Given the description of an element on the screen output the (x, y) to click on. 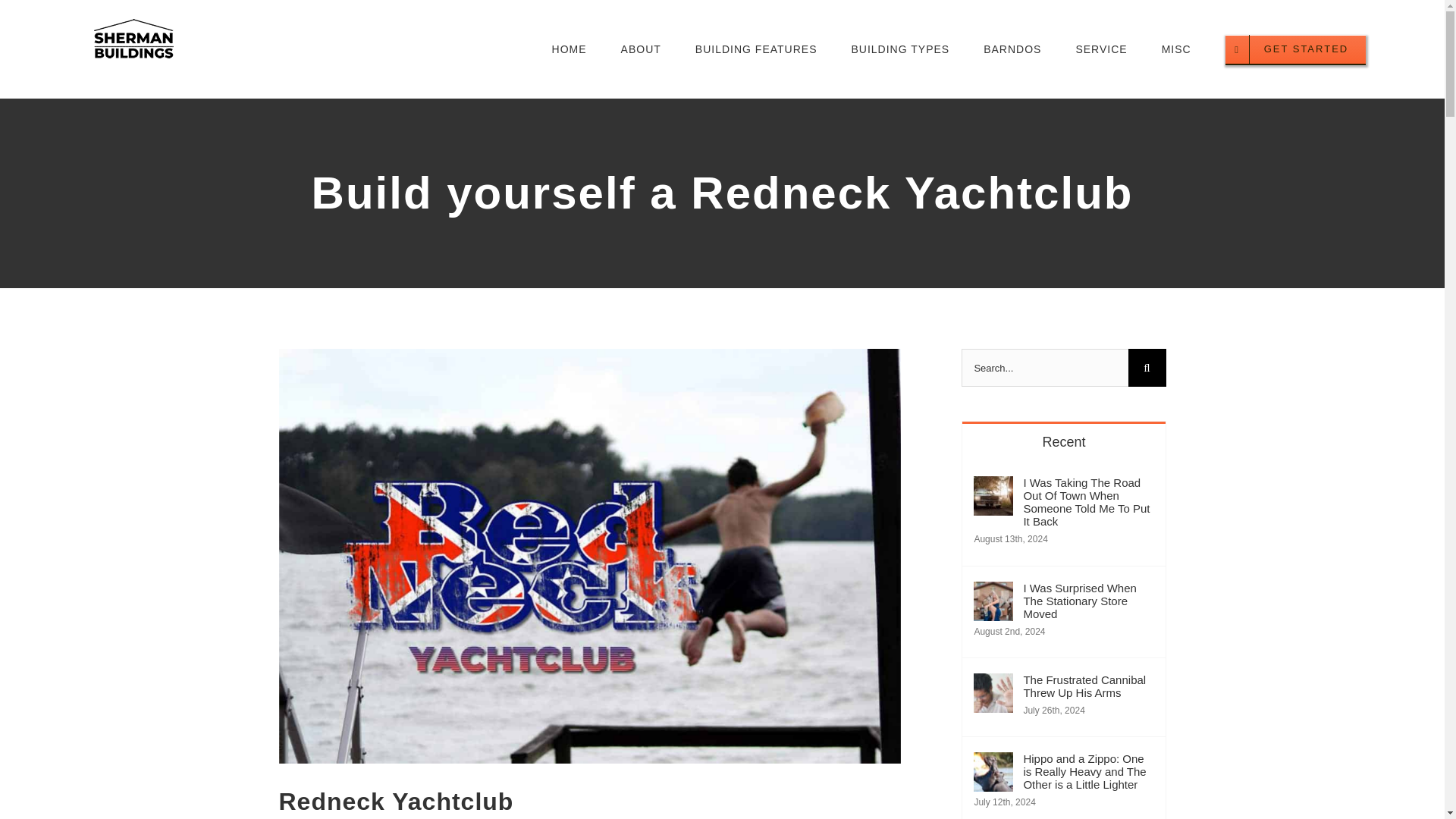
GET STARTED (1296, 49)
BUILDING FEATURES (755, 49)
BUILDING TYPES (899, 49)
